Given the description of an element on the screen output the (x, y) to click on. 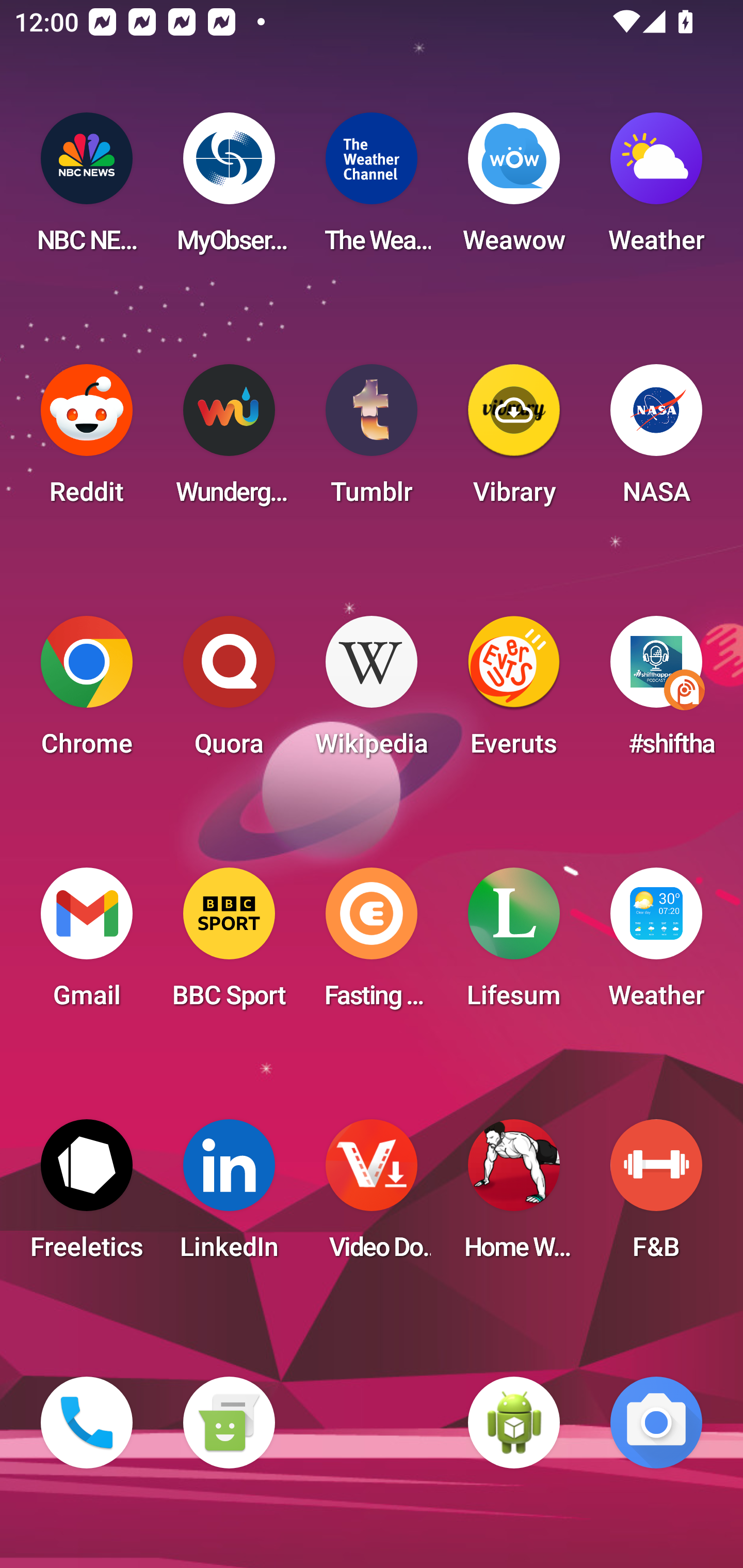
NBC NEWS (86, 188)
MyObservatory (228, 188)
The Weather Channel (371, 188)
Weawow (513, 188)
Weather (656, 188)
Reddit (86, 440)
Wunderground (228, 440)
Tumblr (371, 440)
Vibrary (513, 440)
NASA (656, 440)
Chrome (86, 692)
Quora (228, 692)
Wikipedia (371, 692)
Everuts (513, 692)
#shifthappens in the Digital Workplace Podcast (656, 692)
Gmail (86, 943)
BBC Sport (228, 943)
Fasting Coach (371, 943)
Lifesum (513, 943)
Weather (656, 943)
Freeletics (86, 1195)
LinkedIn (228, 1195)
Video Downloader & Ace Player (371, 1195)
Home Workout (513, 1195)
F&B (656, 1195)
Phone (86, 1422)
Messaging (228, 1422)
WebView Browser Tester (513, 1422)
Camera (656, 1422)
